Given the description of an element on the screen output the (x, y) to click on. 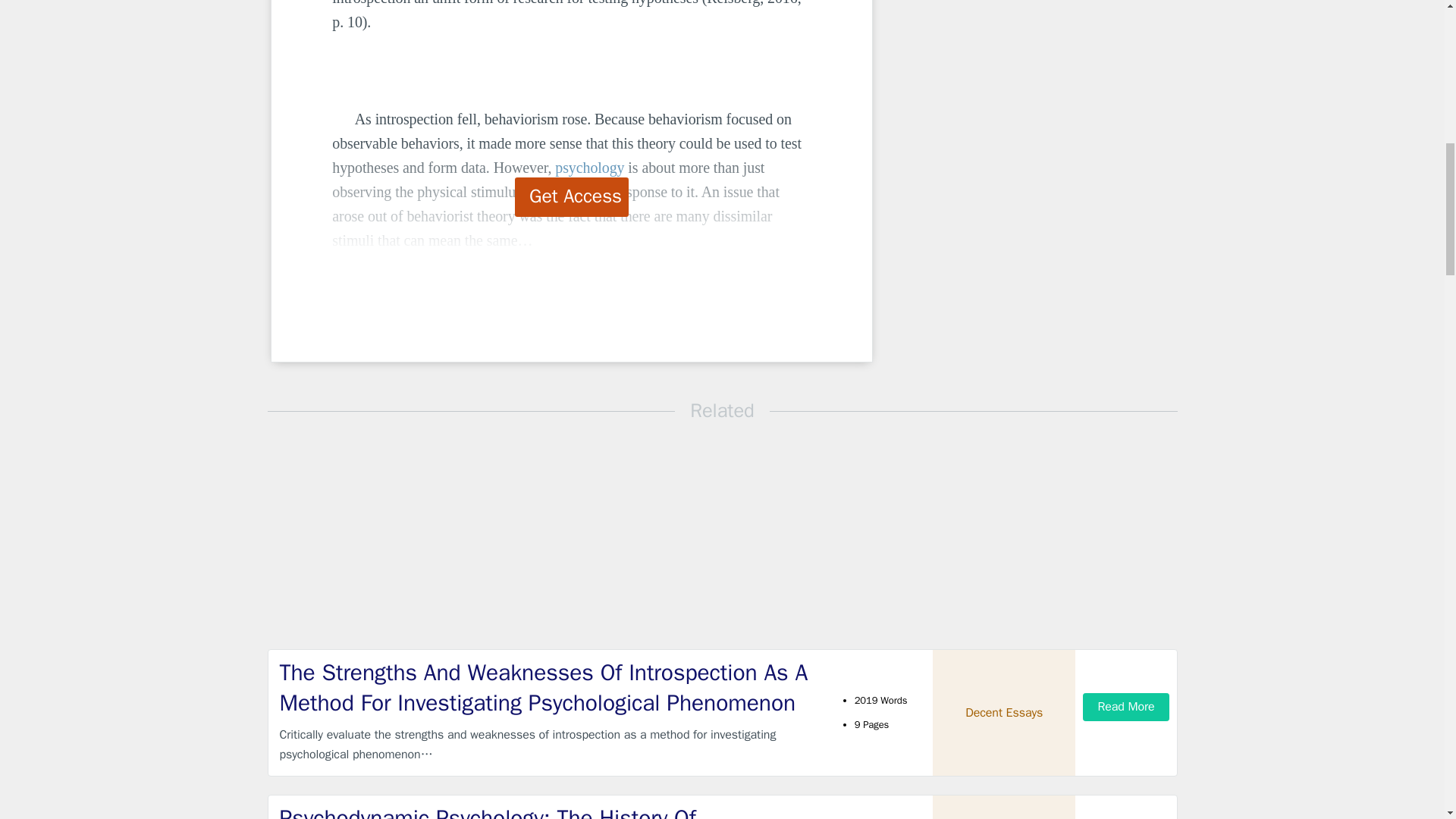
Read More (1126, 706)
Get Access (571, 197)
psychology (589, 167)
